Given the description of an element on the screen output the (x, y) to click on. 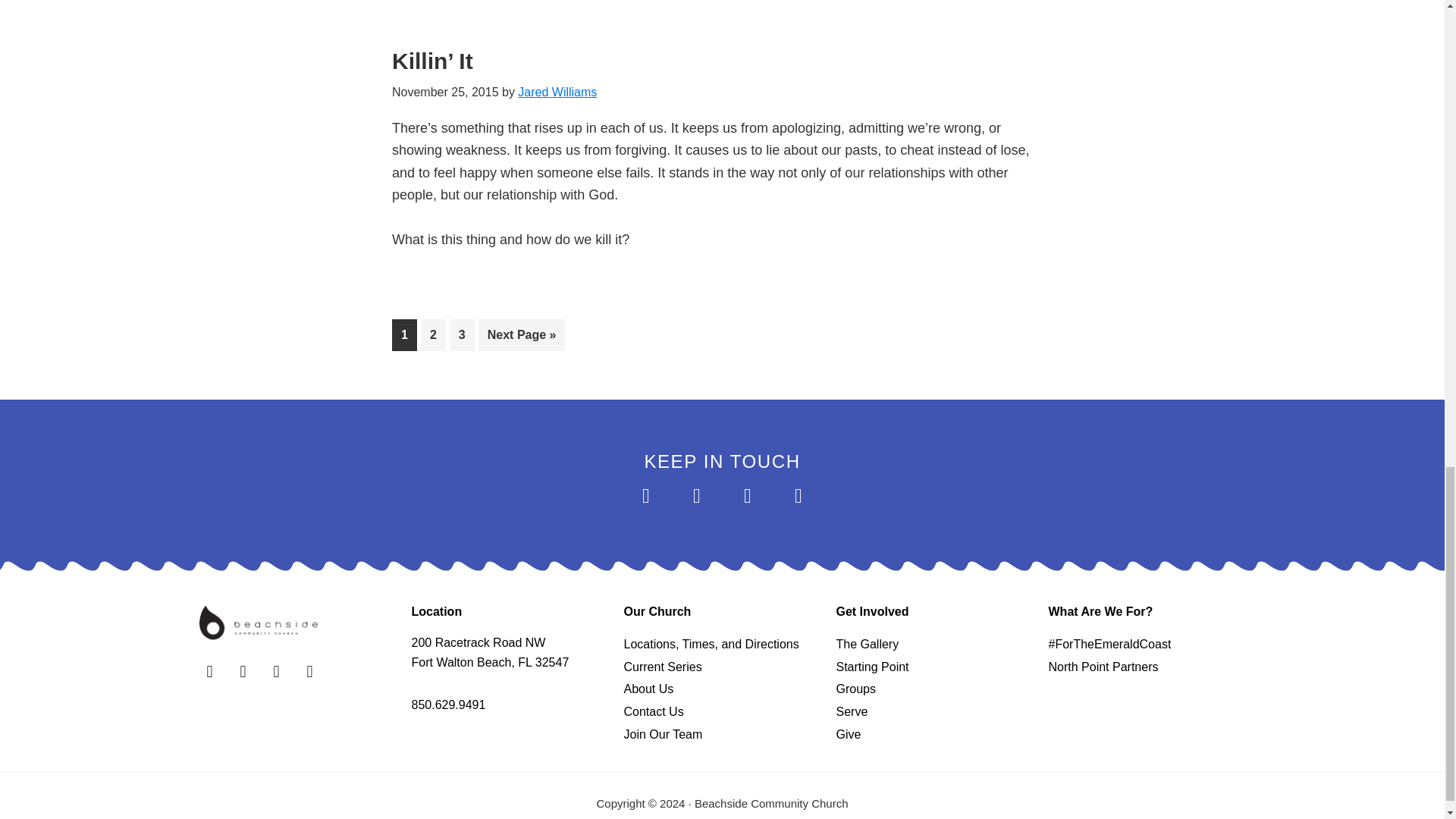
Jared Williams (557, 91)
